Given the description of an element on the screen output the (x, y) to click on. 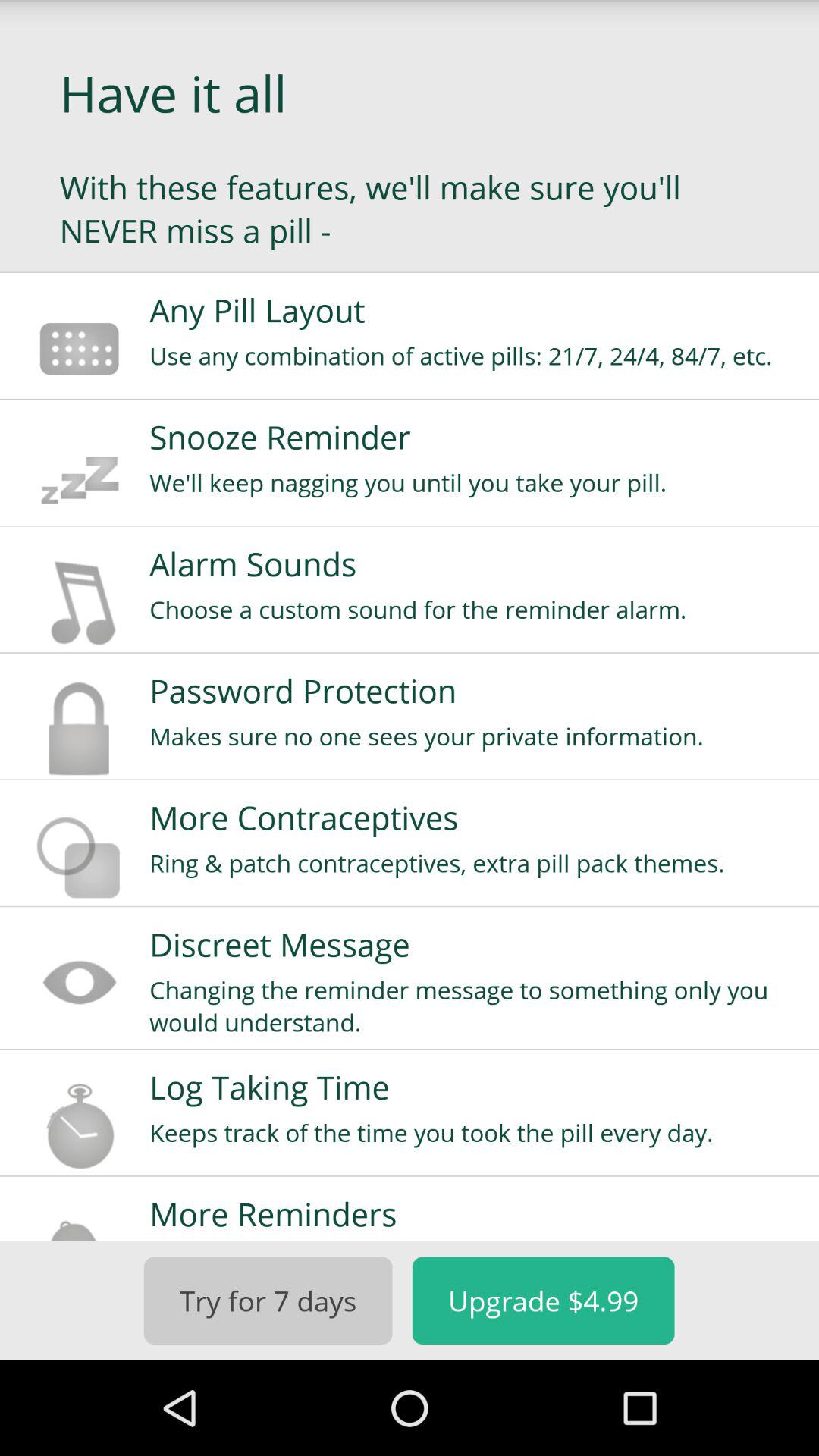
open the icon below the more reminders item (543, 1300)
